Given the description of an element on the screen output the (x, y) to click on. 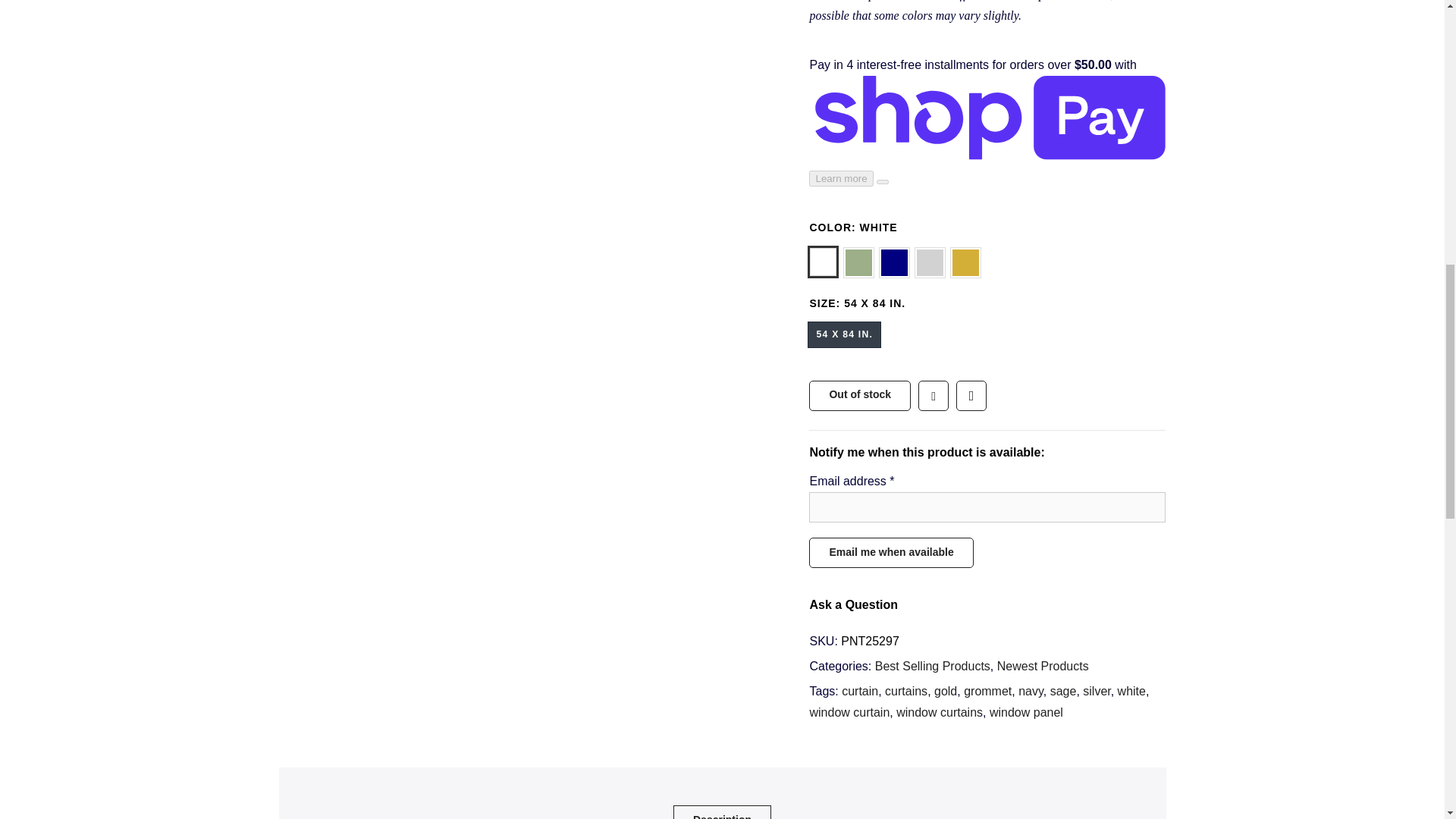
window curtains (939, 712)
sage (1063, 690)
Description (721, 812)
gold (945, 690)
navy (1030, 690)
Newest Products (1043, 666)
white (1131, 690)
Email me when available (890, 552)
Out of stock (860, 395)
curtains (906, 690)
